Given the description of an element on the screen output the (x, y) to click on. 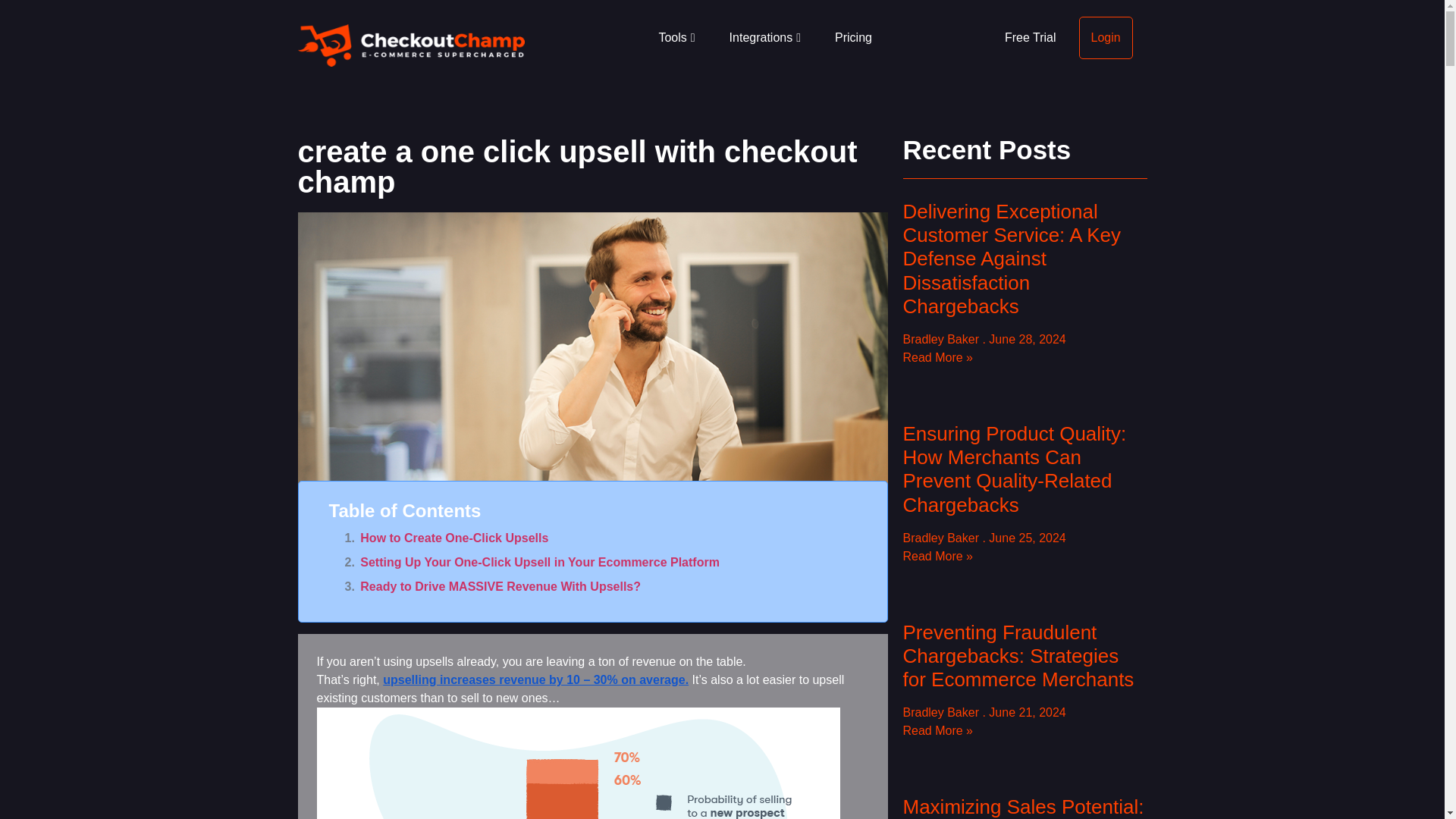
Pricing (853, 37)
Login (1105, 37)
Free Trial (1030, 37)
Setting Up Your One-Click Upsell in Your Ecommerce Platform (593, 566)
Ready to Drive MASSIVE Revenue With Upsells? (593, 590)
Integrations (764, 37)
How to Create One-Click Upsells (593, 541)
Tools (676, 37)
